Given the description of an element on the screen output the (x, y) to click on. 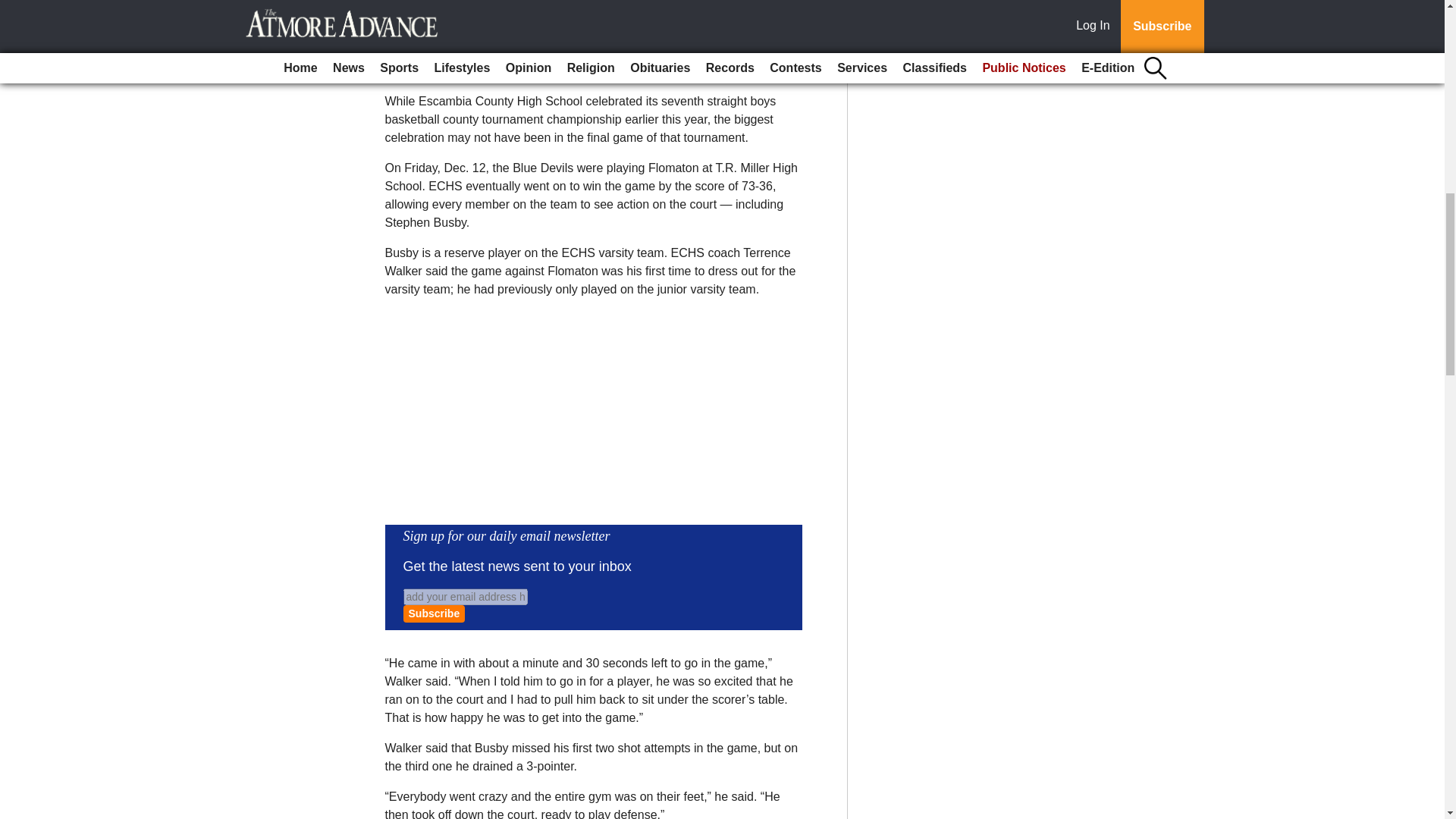
Subscribe (434, 613)
Subscribe (434, 613)
